Given the description of an element on the screen output the (x, y) to click on. 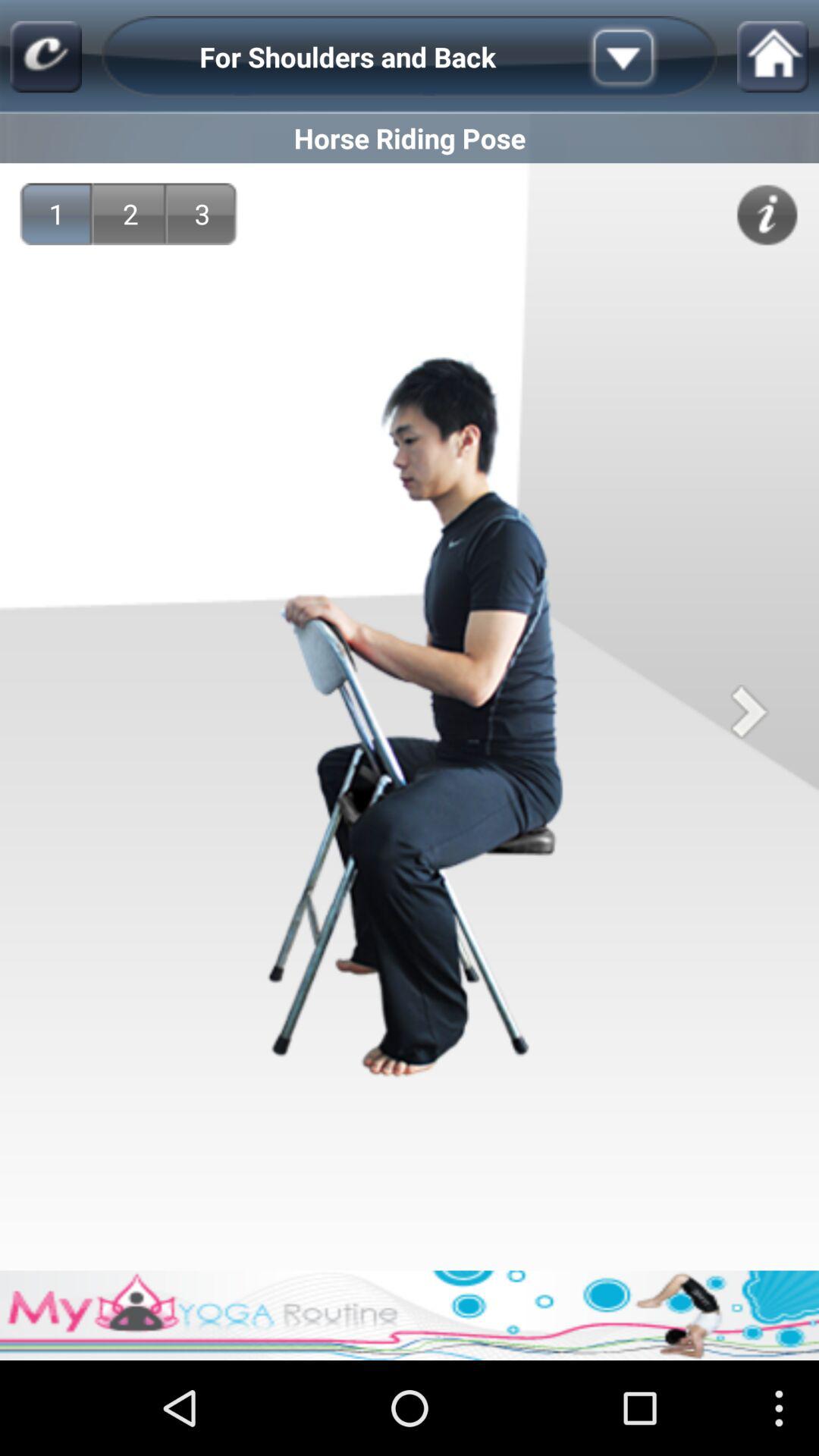
information (767, 214)
